Given the description of an element on the screen output the (x, y) to click on. 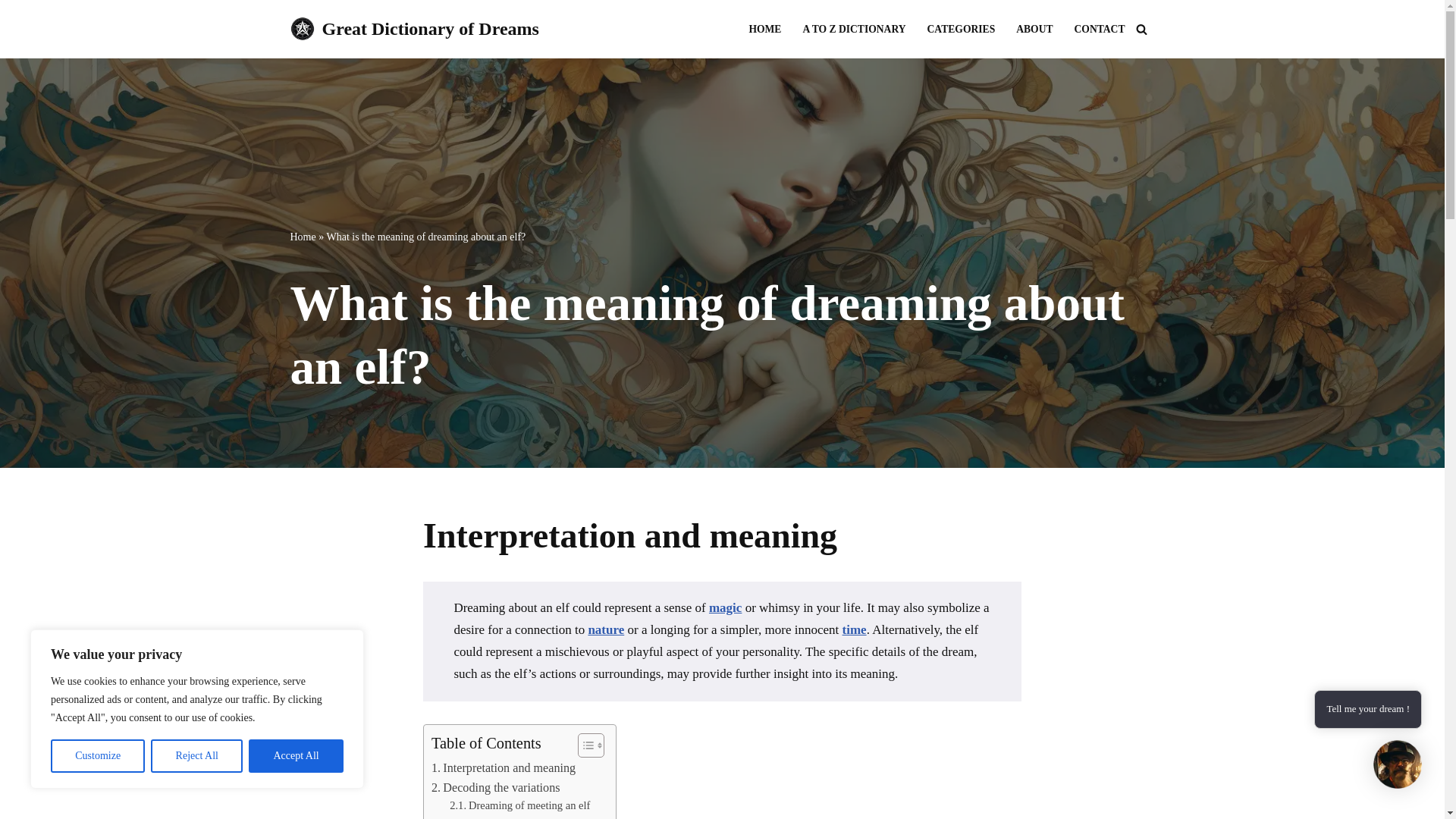
Dreaming of an elven world (520, 816)
Home (302, 236)
Reject All (197, 756)
Accept All (295, 756)
Decoding the variations (495, 787)
HOME (764, 28)
Interpretation and meaning (502, 768)
nature (606, 629)
CONTACT (1099, 28)
CATEGORIES (961, 28)
